Given the description of an element on the screen output the (x, y) to click on. 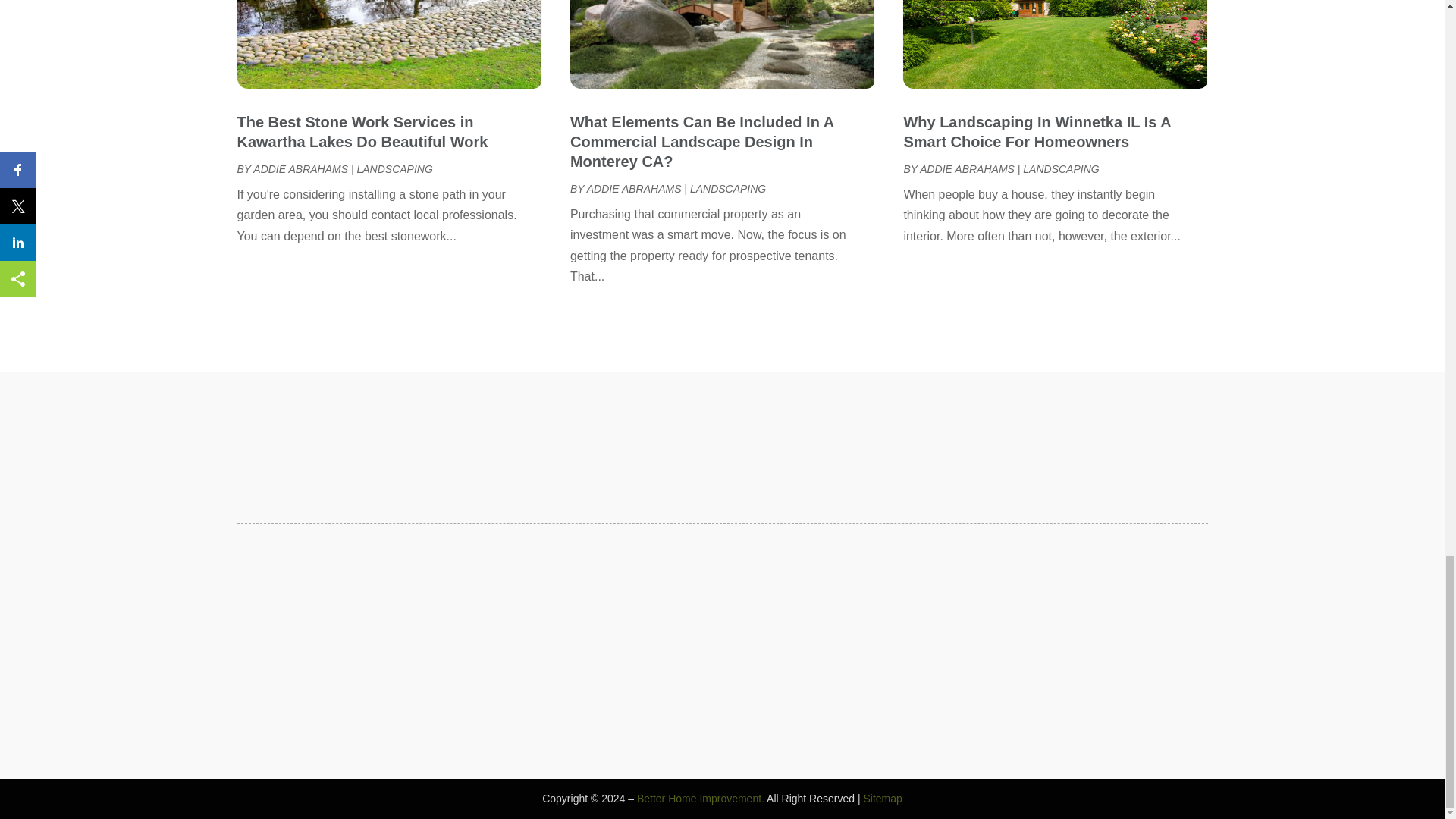
Posts by Addie Abrahams (633, 188)
Posts by Addie Abrahams (967, 168)
Posts by Addie Abrahams (300, 168)
